Given the description of an element on the screen output the (x, y) to click on. 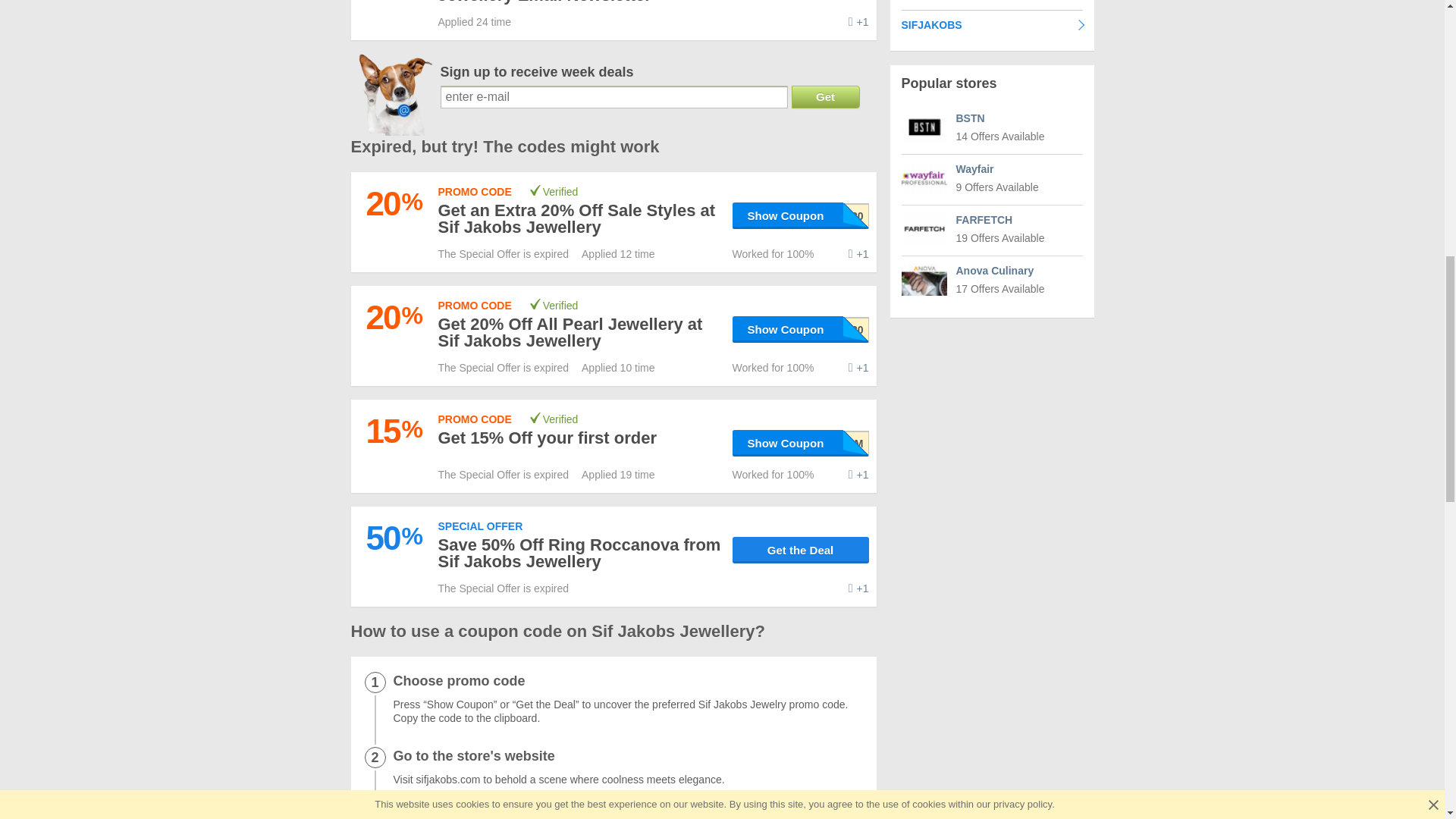
Leave your comment  (858, 254)
Leave your comment  (858, 474)
Leave your comment  (858, 367)
Show Coupon (800, 442)
Get the Deal (800, 550)
Leave your comment  (858, 21)
Leave your comment  (858, 588)
Show Coupon (800, 215)
Show Coupon (800, 329)
